Given the description of an element on the screen output the (x, y) to click on. 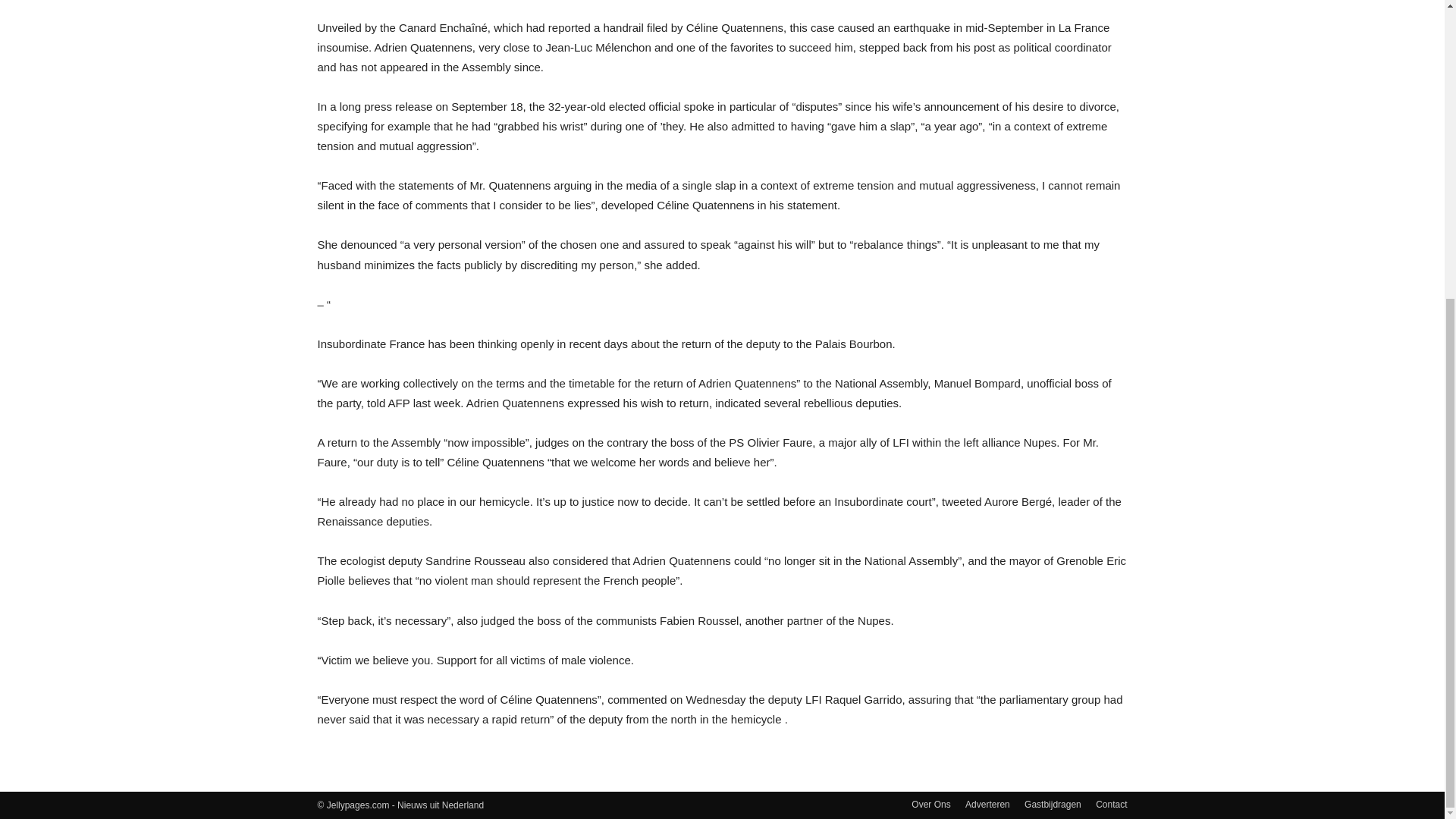
Gastbijdragen (1053, 804)
Adverteren (987, 804)
Contact (1111, 804)
Over Ons (930, 804)
